Given the description of an element on the screen output the (x, y) to click on. 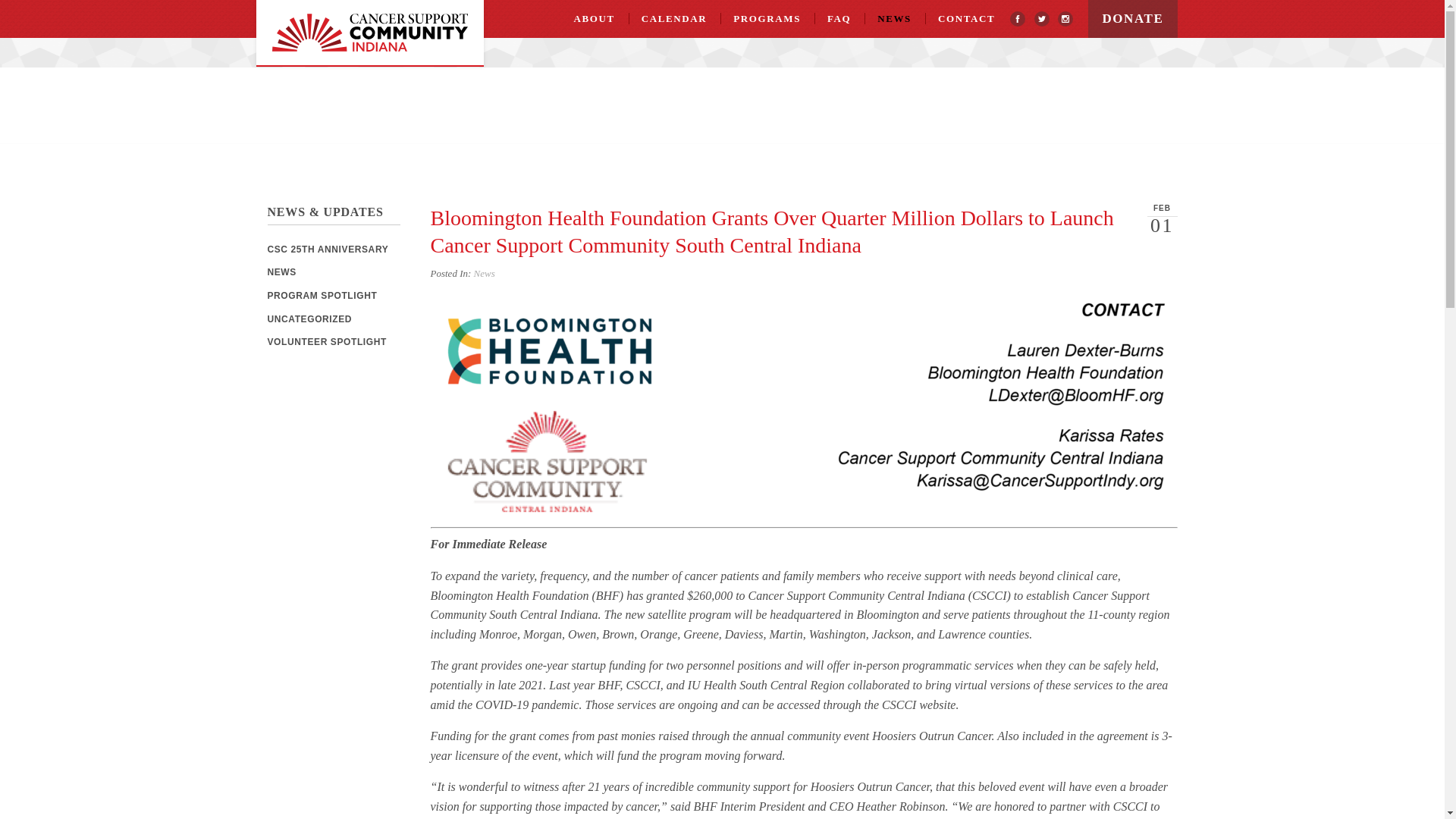
CONTACT (965, 18)
CALENDAR (674, 18)
ABOUT (593, 18)
PROGRAMS (766, 18)
NEWS (894, 18)
DONATE (1131, 18)
